Given the description of an element on the screen output the (x, y) to click on. 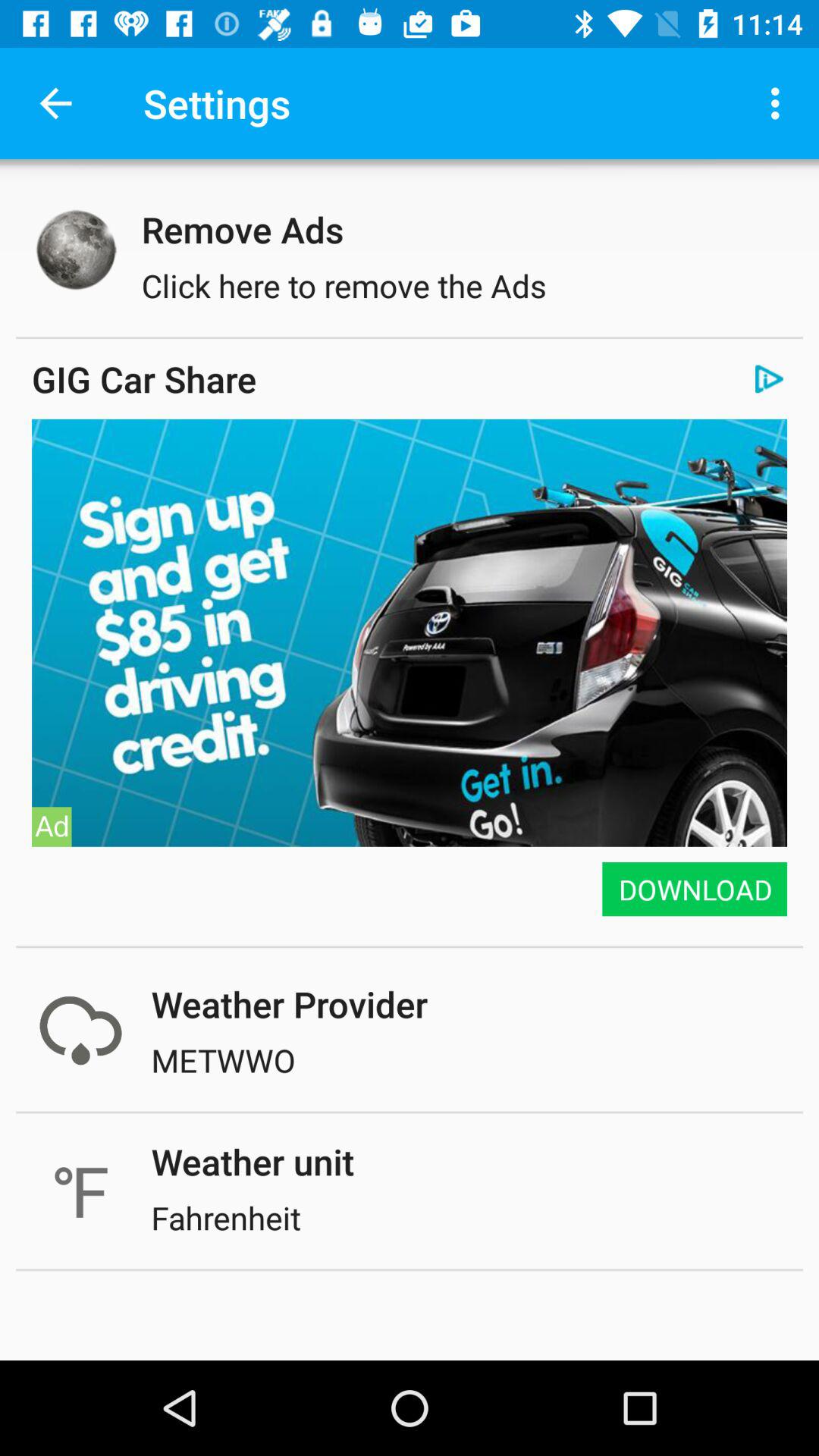
click icon next to the settings icon (779, 103)
